Given the description of an element on the screen output the (x, y) to click on. 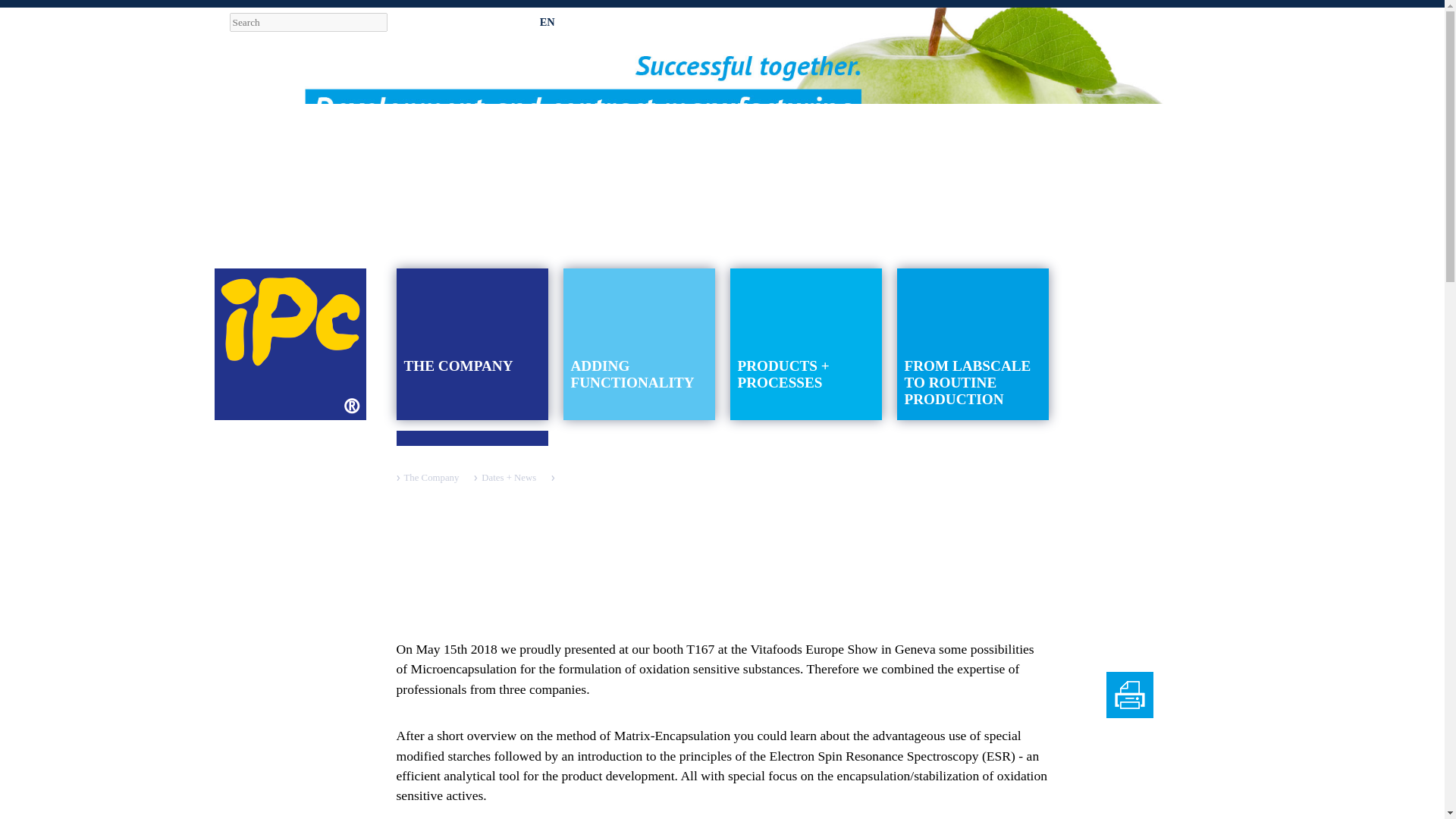
DE (519, 22)
Jobs (641, 22)
Imprint (890, 22)
Contact (827, 22)
IPC News (519, 22)
IPC Dresden - Home (289, 344)
IMPRINT (890, 22)
Suchen (403, 22)
The Company (430, 477)
CONTACT (827, 22)
JOBS (641, 22)
